Given the description of an element on the screen output the (x, y) to click on. 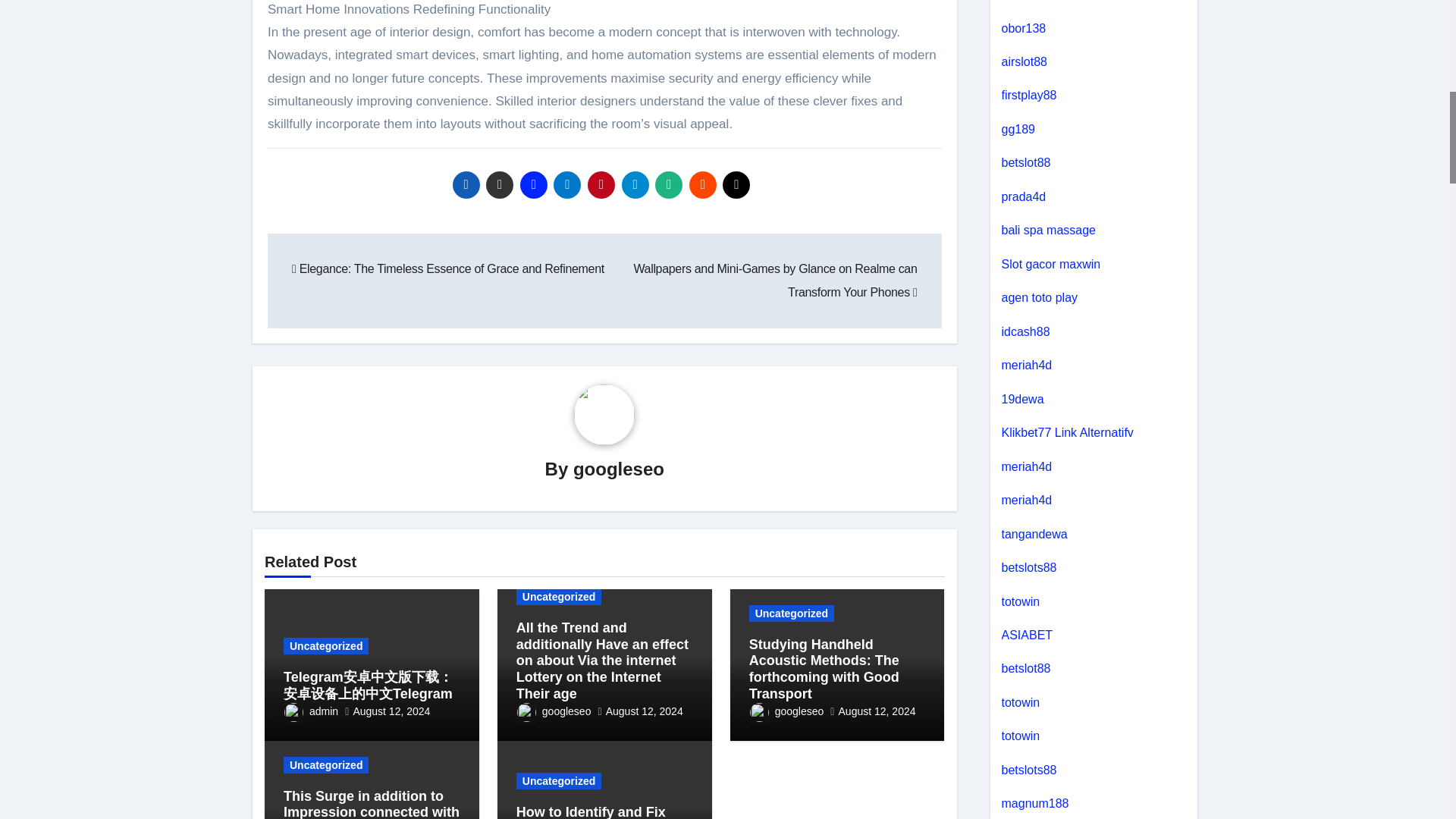
August 12, 2024 (643, 711)
Elegance: The Timeless Essence of Grace and Refinement (448, 268)
Uncategorized (791, 613)
August 12, 2024 (390, 711)
admin (310, 711)
googleseo (618, 468)
